Given the description of an element on the screen output the (x, y) to click on. 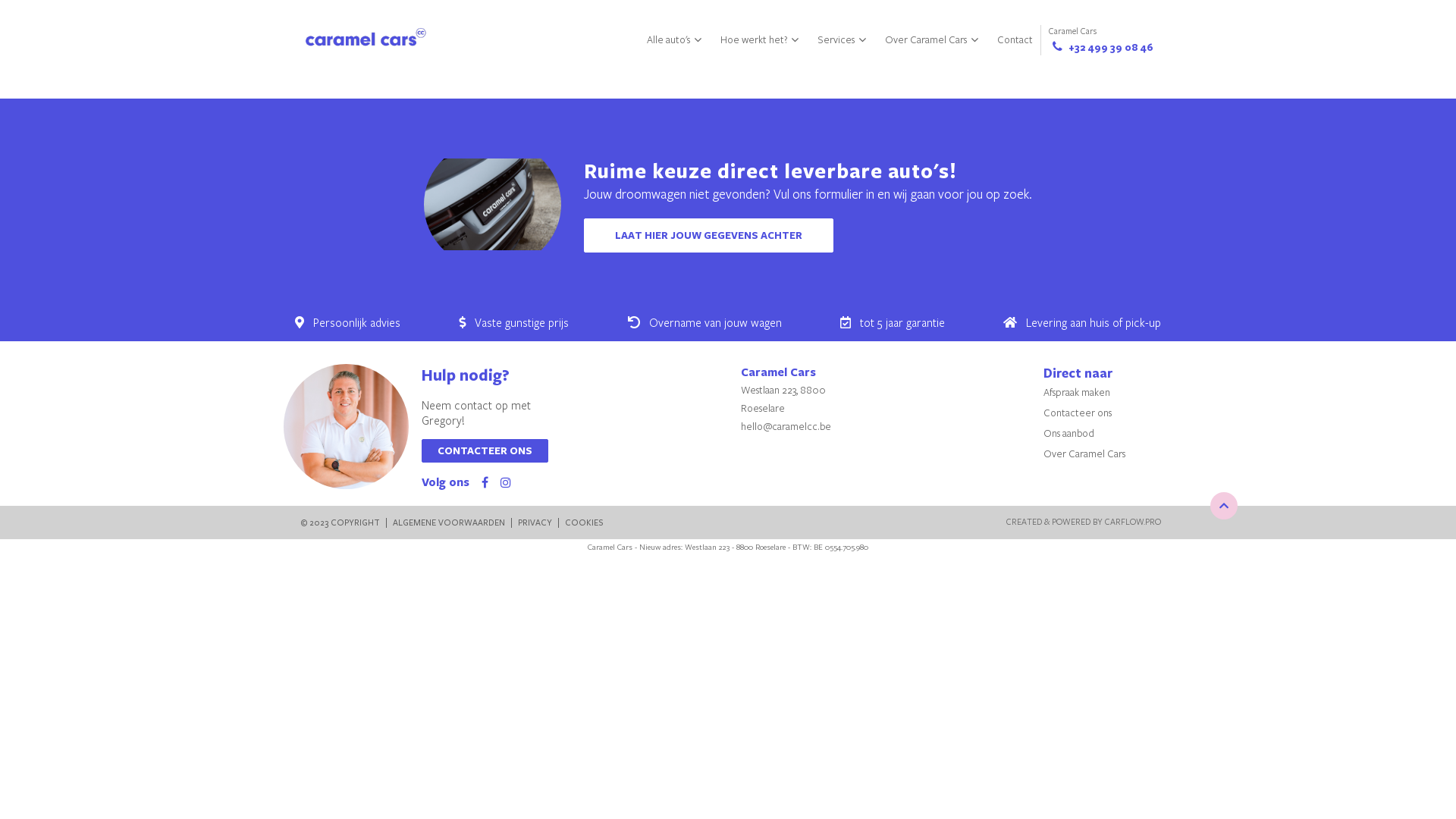
Hoe werkt het? Element type: text (760, 39)
CONTACTEER ONS Element type: text (484, 450)
Overname van jouw wagen Element type: text (715, 321)
LAAT HIER JOUW GEGEVENS ACHTER Element type: text (708, 235)
Caramel Cars
+32 499 39 08 46 Element type: text (1100, 39)
COOKIES Element type: text (583, 522)
Persoonlijk advies Element type: text (356, 321)
Services Element type: text (843, 39)
tot 5 jaar garantie Element type: text (901, 321)
hello@caramelcc.be Element type: text (785, 426)
ALGEMENE VOORWAARDEN Element type: text (448, 522)
Over Caramel Cars Element type: text (1084, 453)
Alle auto's Element type: text (675, 39)
Westlaan 223, 8800 Roeselare Element type: text (782, 398)
Ons aanbod Element type: text (1068, 432)
Afspraak maken Element type: text (1076, 391)
Levering aan huis of pick-up Element type: text (1093, 321)
CARFLOW.PRO Element type: text (1132, 521)
Contact Element type: text (1014, 39)
Over Caramel Cars Element type: text (933, 39)
Vaste gunstige prijs Element type: text (521, 321)
PRIVACY Element type: text (534, 522)
Contacteer ons Element type: text (1077, 412)
